Given the description of an element on the screen output the (x, y) to click on. 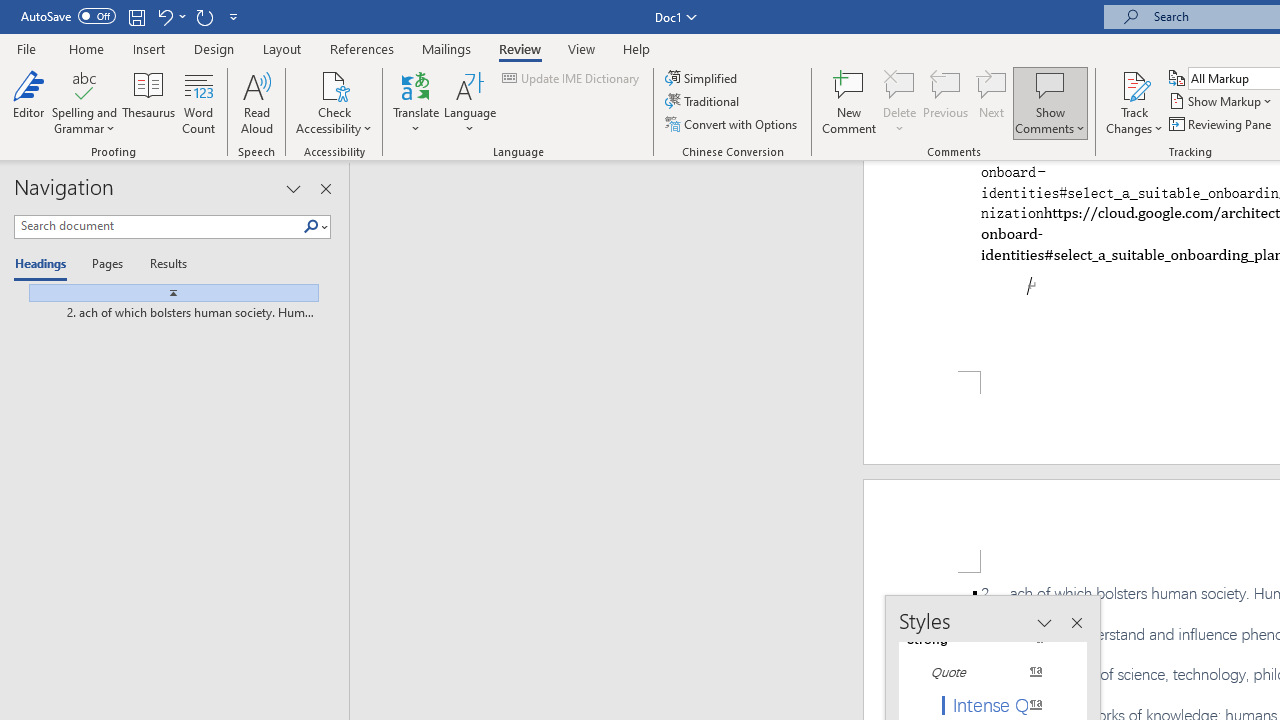
Repeat Style (204, 15)
Convert with Options... (732, 124)
Strong (984, 638)
Delete (900, 102)
Spelling and Grammar (84, 84)
Thesaurus... (148, 102)
Reviewing Pane (1221, 124)
